Given the description of an element on the screen output the (x, y) to click on. 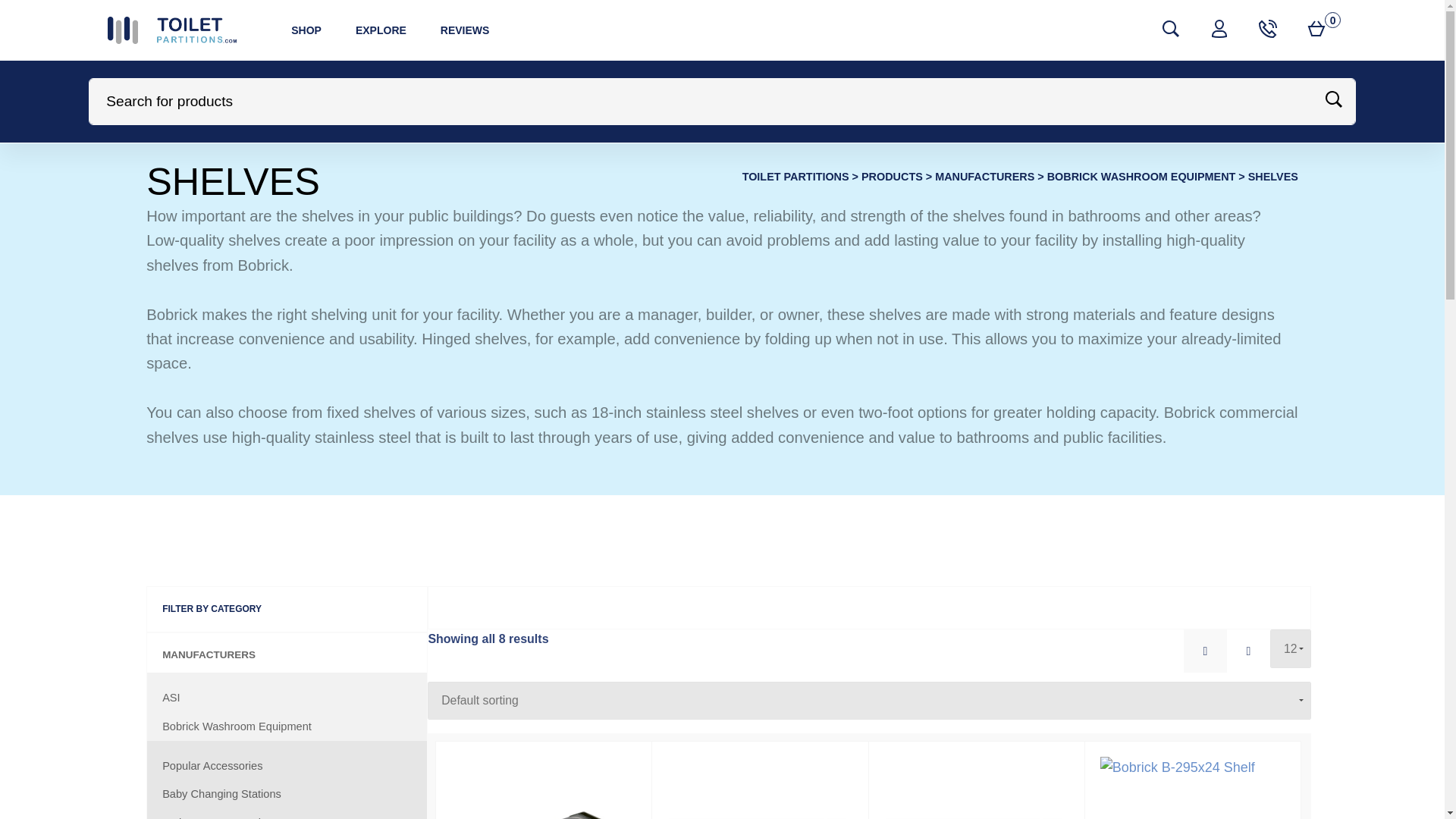
EXPLORE (382, 30)
Go to the Manufacturers Category archives. (983, 176)
ACCOUNT (1315, 30)
PHONE-CALL (1219, 30)
Go to the Bobrick Washroom Equipment Category archives. (1267, 28)
REVIEWS (1141, 176)
List Layout (464, 30)
Go to Toilet Partitions. (1248, 650)
Toilet Partitions (795, 176)
